Given the description of an element on the screen output the (x, y) to click on. 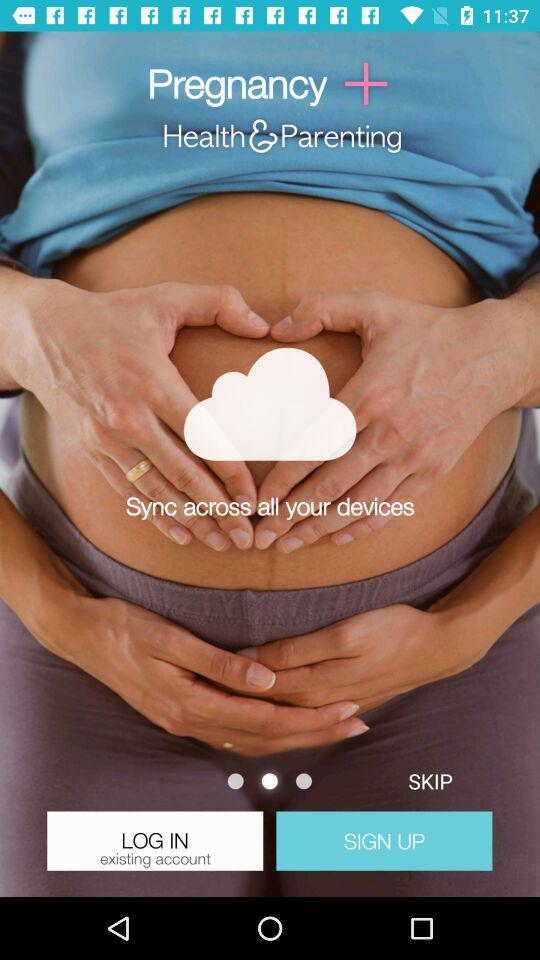
press sign up item (384, 840)
